Given the description of an element on the screen output the (x, y) to click on. 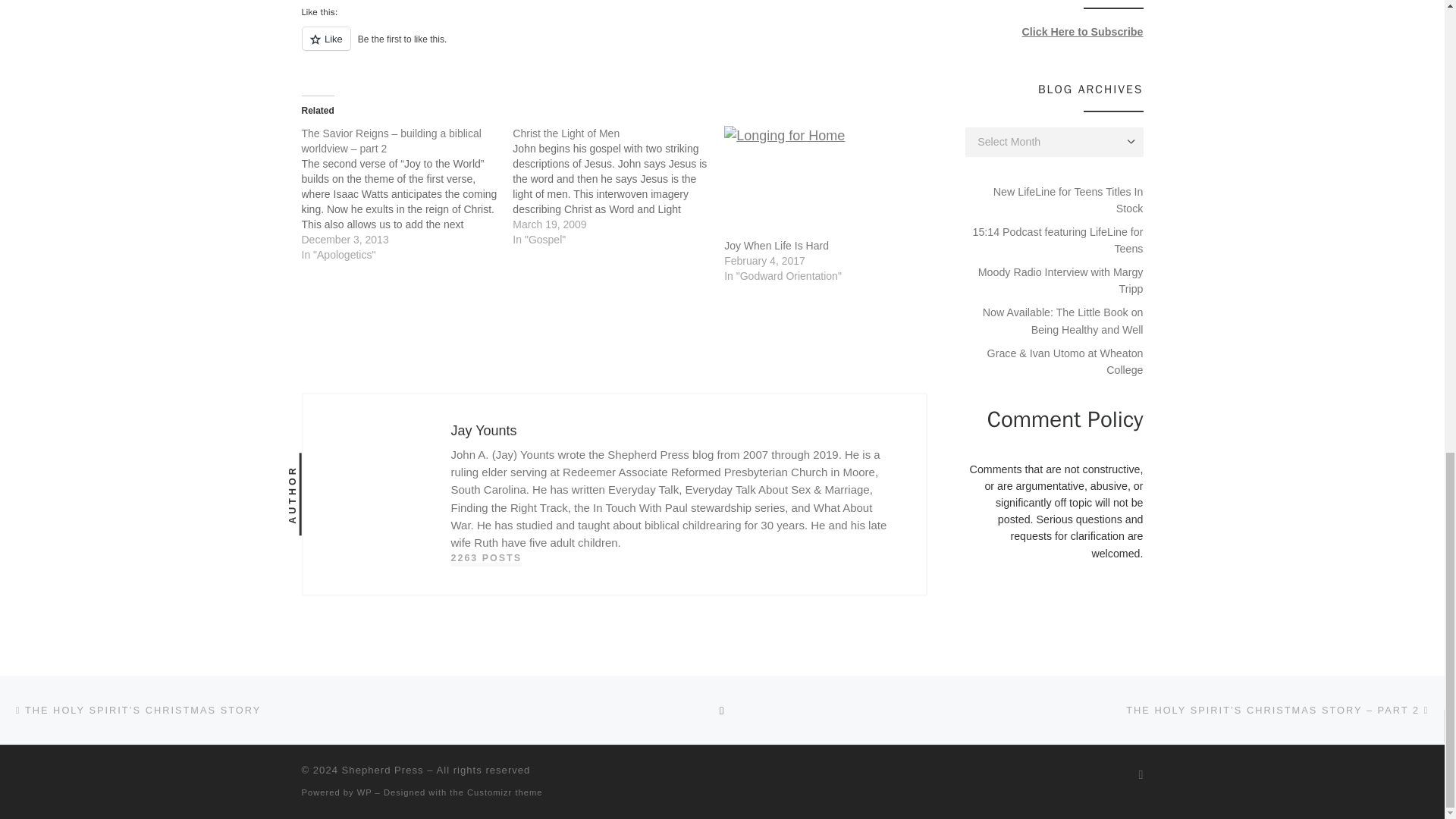
Like or Reblog (614, 46)
